Given the description of an element on the screen output the (x, y) to click on. 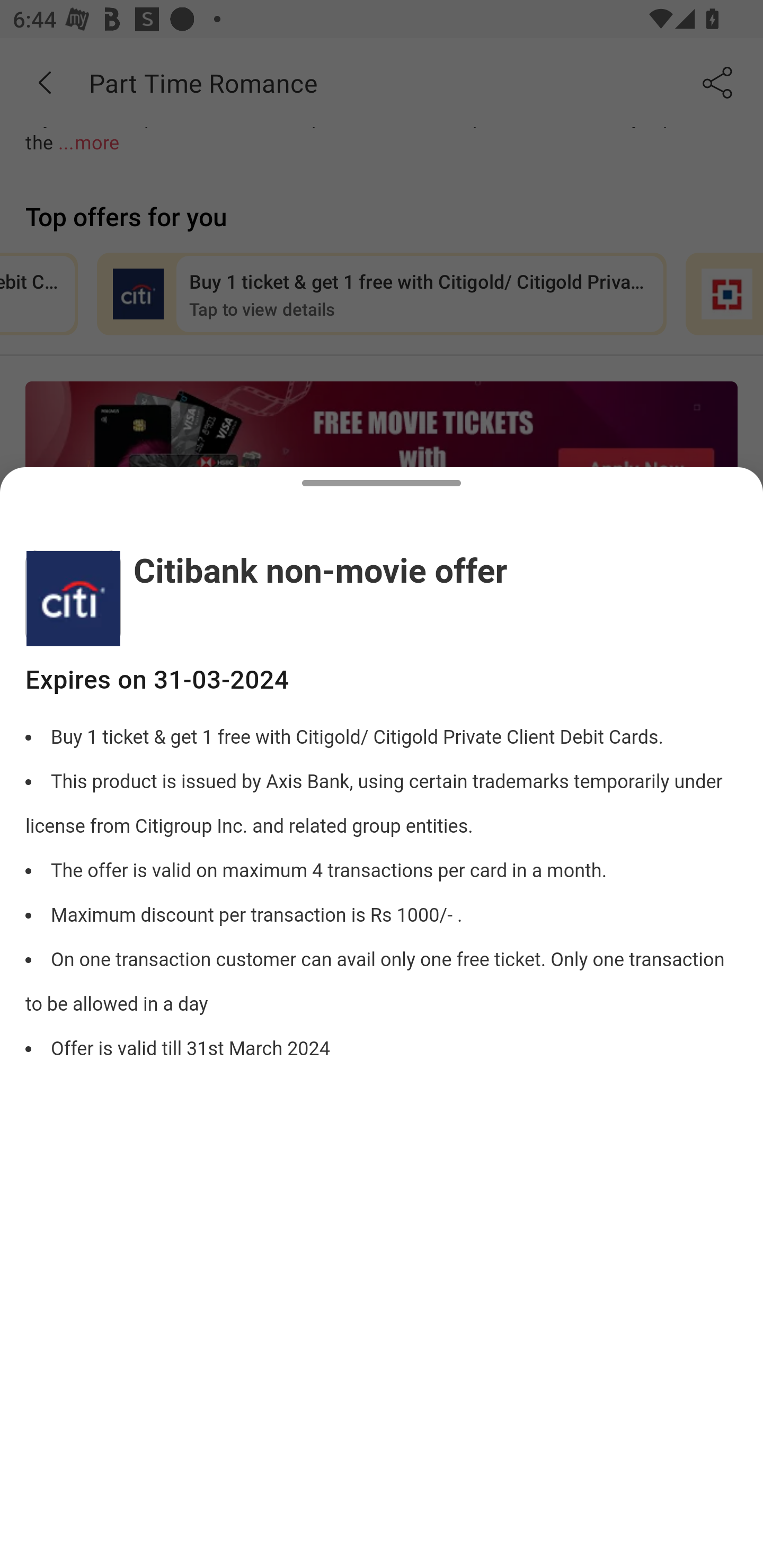
Expires on 31-03-2024 (381, 680)
